Given the description of an element on the screen output the (x, y) to click on. 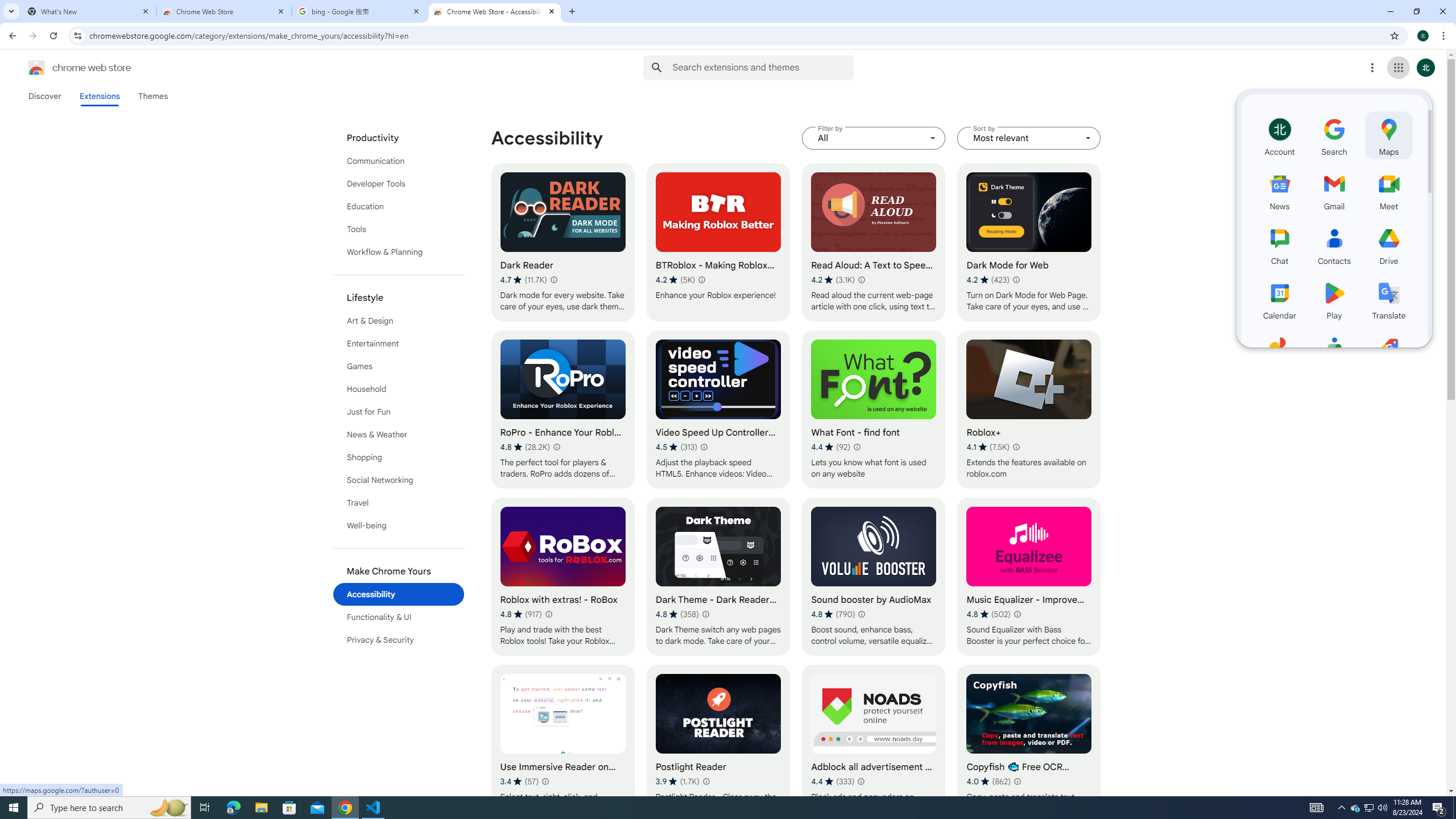
Education (398, 205)
Privacy & Security (398, 639)
Household (398, 388)
Functionality & UI (398, 617)
Average rating 4.2 out of 5 stars. 3.1K ratings. (833, 279)
Reload (52, 35)
Google apps (1398, 67)
Average rating 4.4 out of 5 stars. 333 ratings. (832, 781)
Average rating 4.8 out of 5 stars. 502 ratings. (988, 613)
Average rating 4.5 out of 5 stars. 313 ratings. (676, 446)
Learn more about results and reviews "Roblox+" (1016, 446)
Average rating 3.9 out of 5 stars. 1.7K ratings. (676, 781)
Sort by Most relevant (1028, 137)
